Given the description of an element on the screen output the (x, y) to click on. 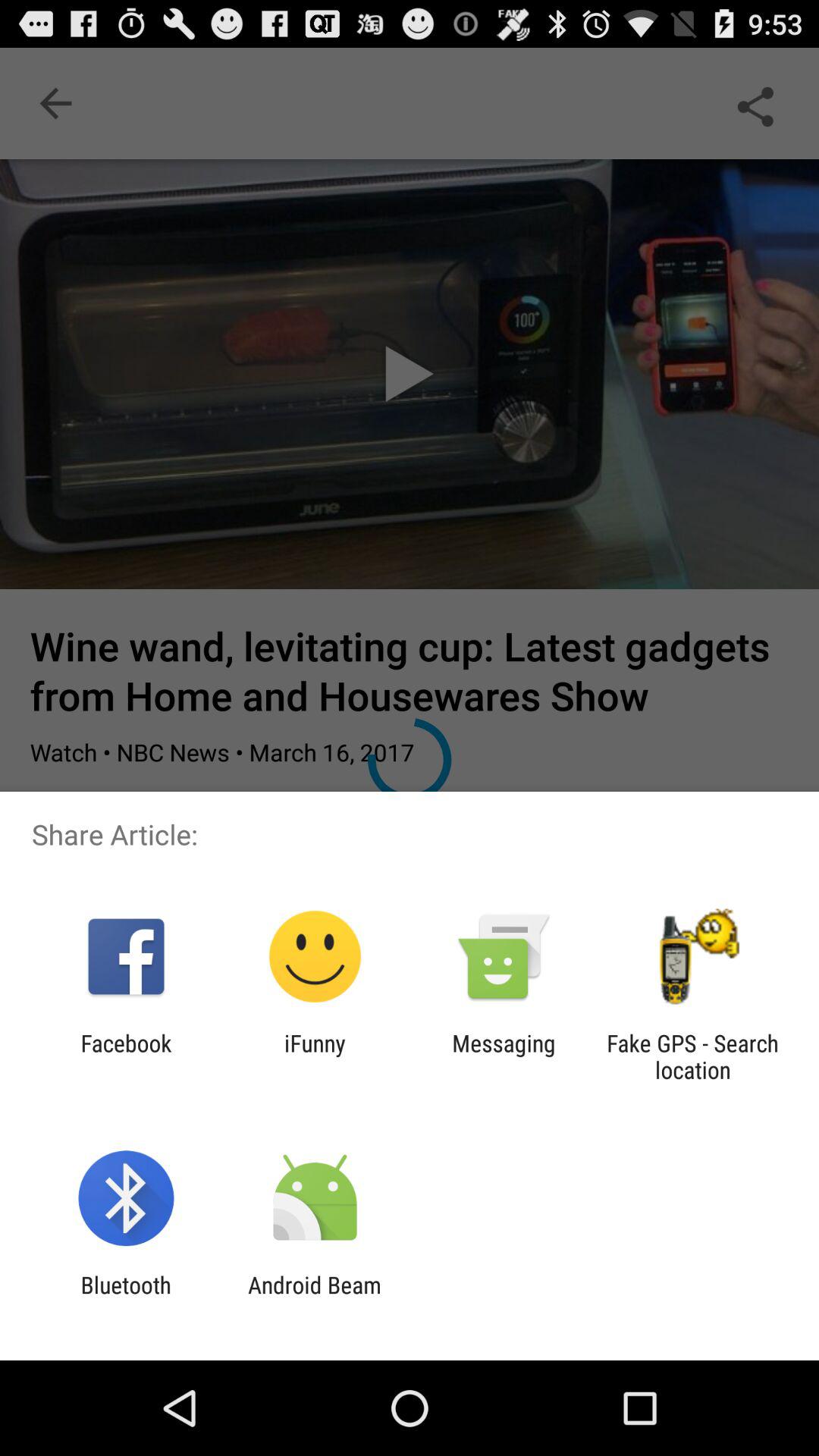
launch the app next to android beam item (125, 1298)
